Given the description of an element on the screen output the (x, y) to click on. 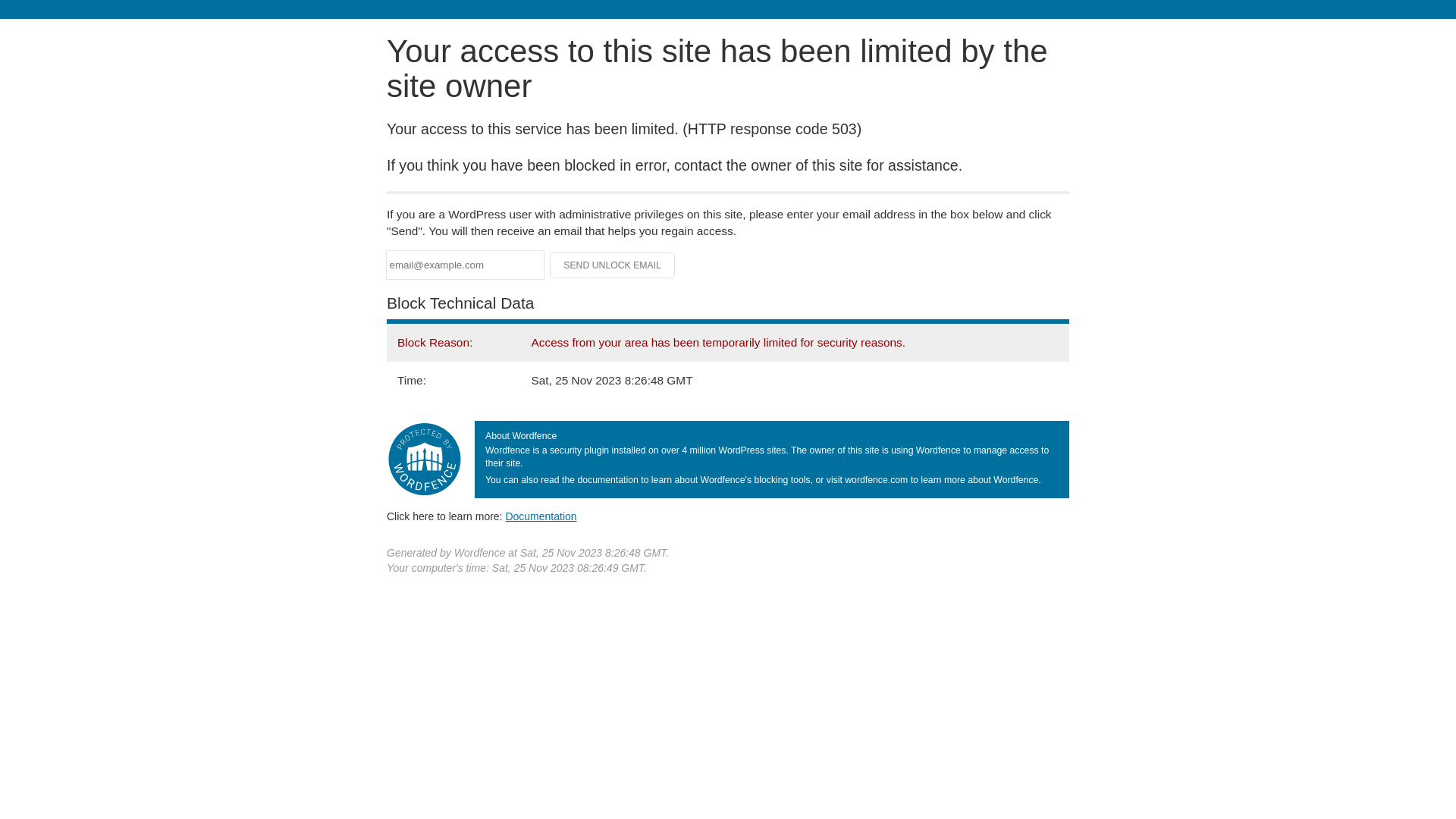
Documentation Element type: text (540, 516)
Send Unlock Email Element type: text (612, 265)
